Given the description of an element on the screen output the (x, y) to click on. 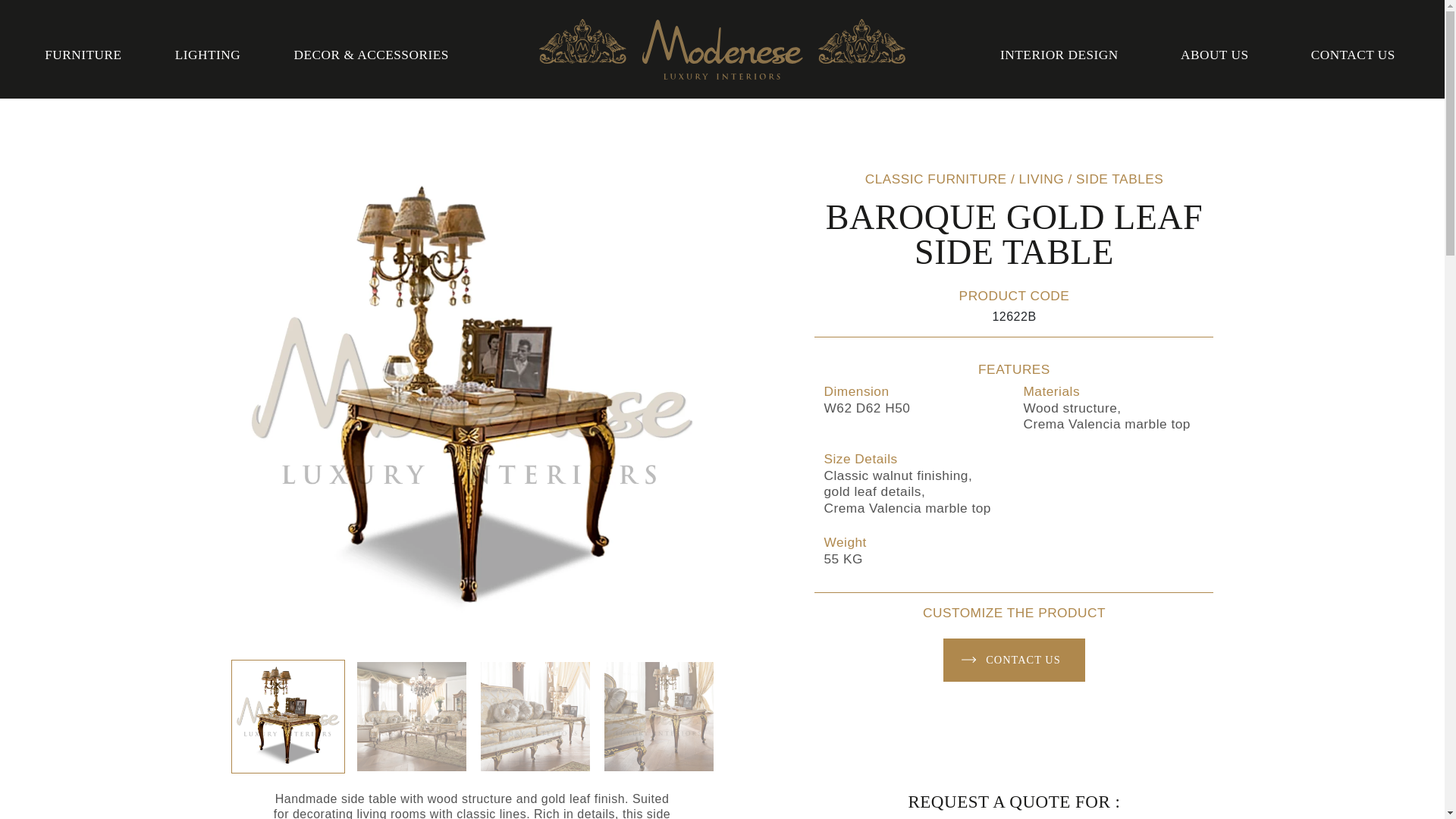
LIVING (1041, 178)
CLASSIC FURNITURE (935, 178)
CONTACT US (1013, 659)
SIDE TABLES (1119, 178)
INTERIOR DESIGN (1059, 54)
ABOUT US (1214, 54)
home (721, 48)
LIGHTING (207, 54)
FURNITURE (82, 54)
CONTACT US (1352, 54)
